Given the description of an element on the screen output the (x, y) to click on. 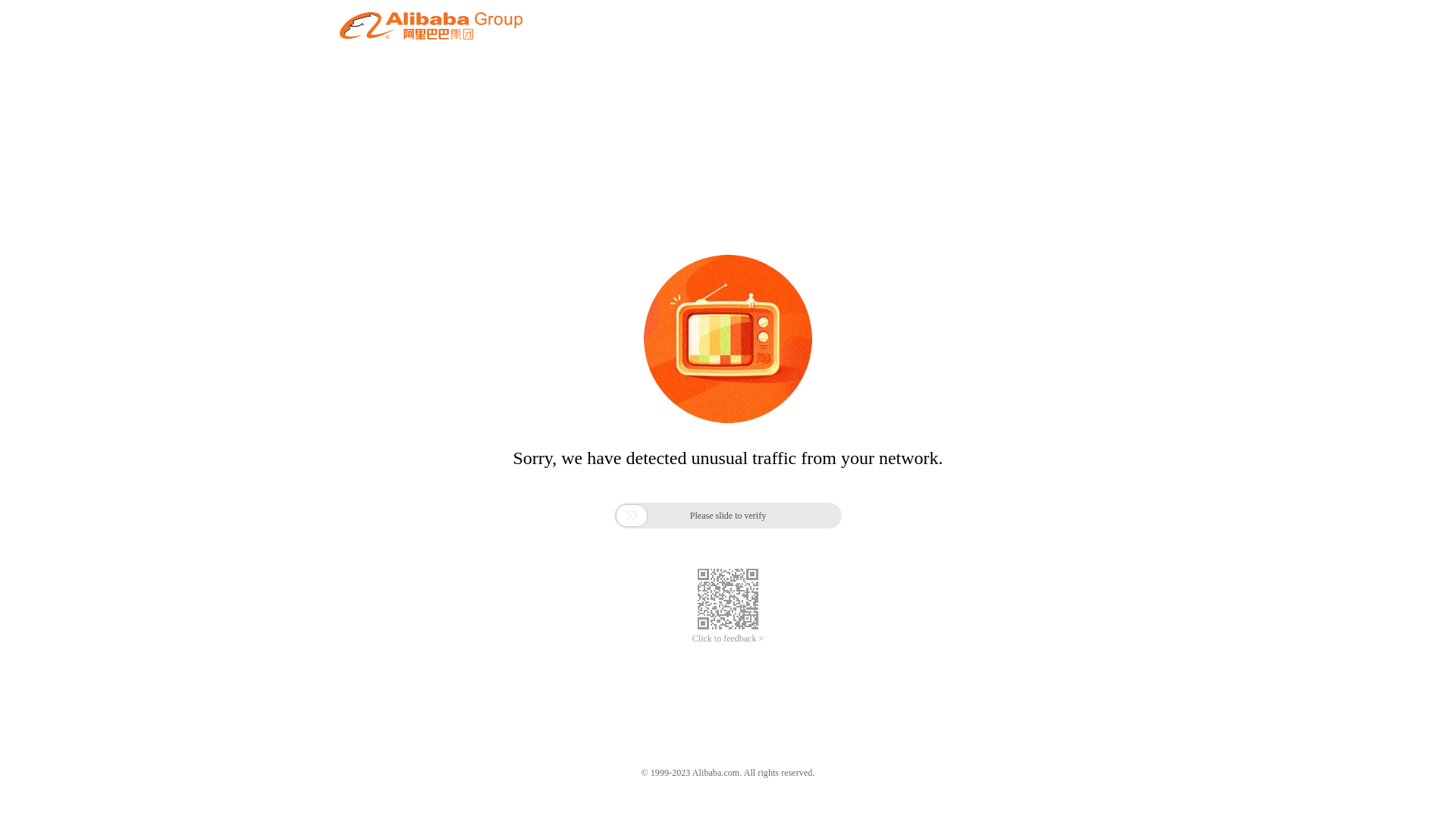
Click to feedback > Element type: text (727, 638)
